Given the description of an element on the screen output the (x, y) to click on. 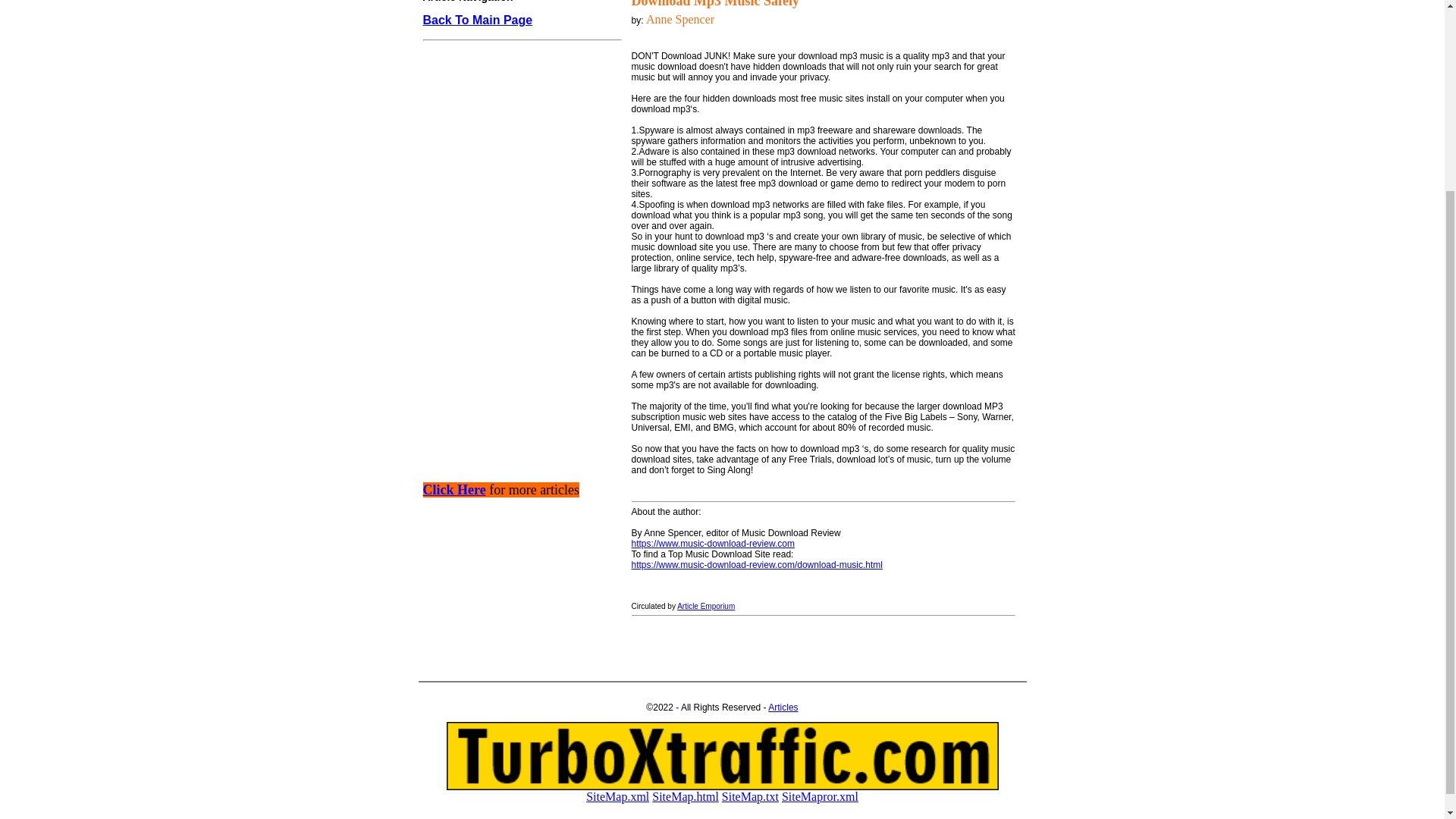
SiteMap.html (685, 796)
Articles (782, 706)
SiteMap.txt (750, 796)
Back To Main Page (477, 20)
SiteMapror.xml (820, 796)
SiteMap.xml (617, 796)
Advertisement (517, 349)
Article Emporium (706, 605)
Click Here (454, 490)
